Given the description of an element on the screen output the (x, y) to click on. 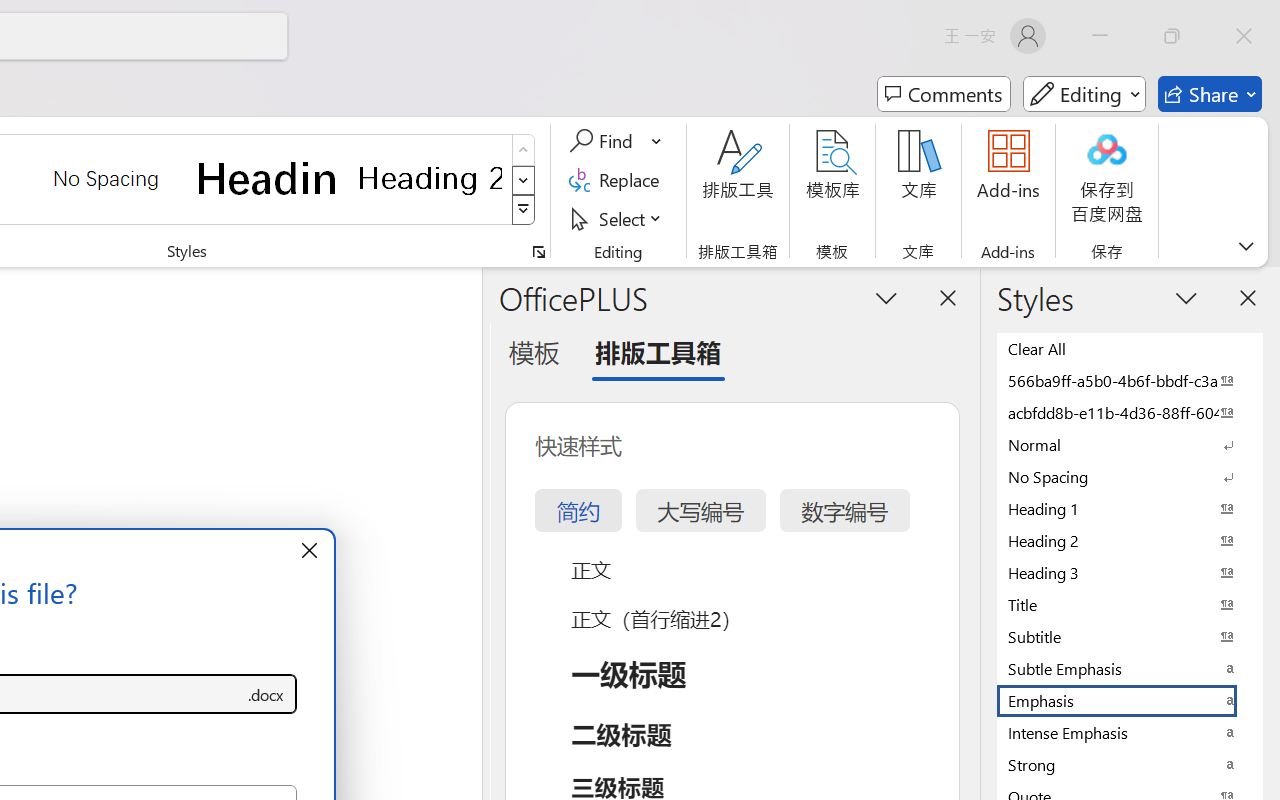
Close (1244, 36)
Ribbon Display Options (1246, 245)
Title (1130, 604)
Mode (1083, 94)
Heading 3 (1130, 572)
Save as type (265, 694)
Restore Down (1172, 36)
Select (618, 218)
